Given the description of an element on the screen output the (x, y) to click on. 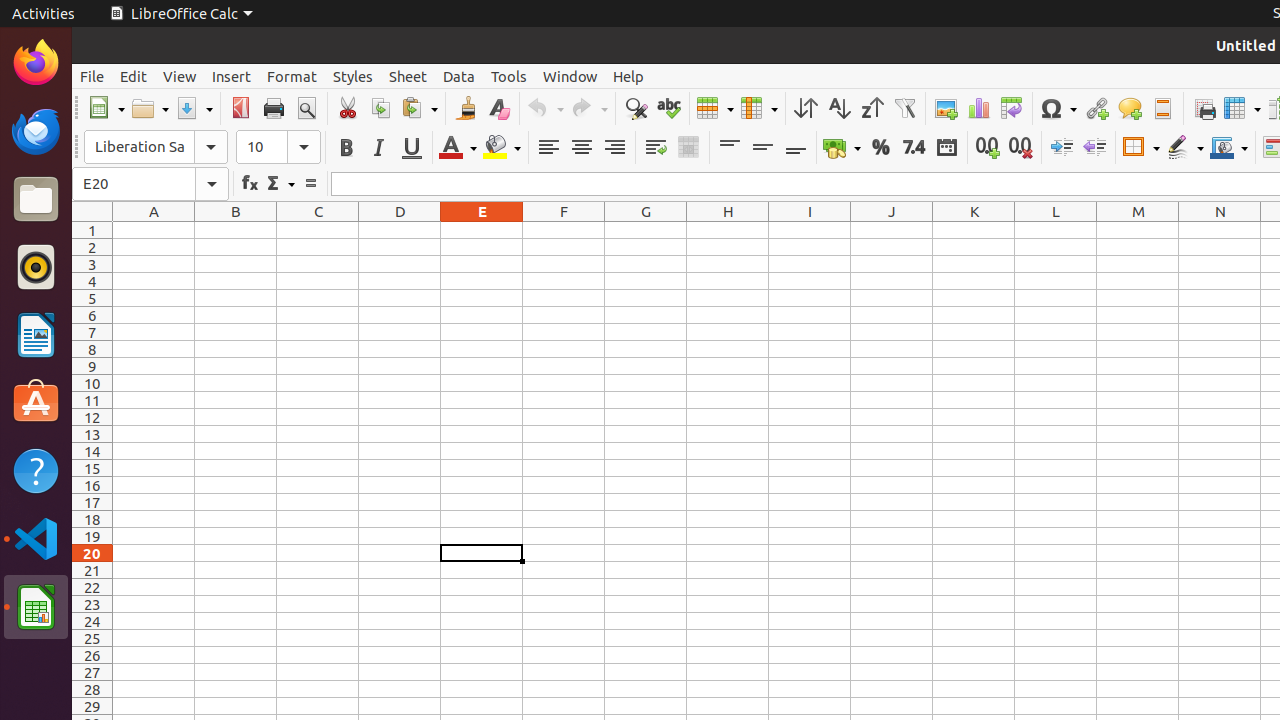
Date Element type: push-button (946, 147)
Select Function Element type: push-button (280, 183)
LibreOffice Calc Element type: menu (181, 13)
View Element type: menu (179, 76)
Sort Descending Element type: push-button (871, 108)
